Given the description of an element on the screen output the (x, y) to click on. 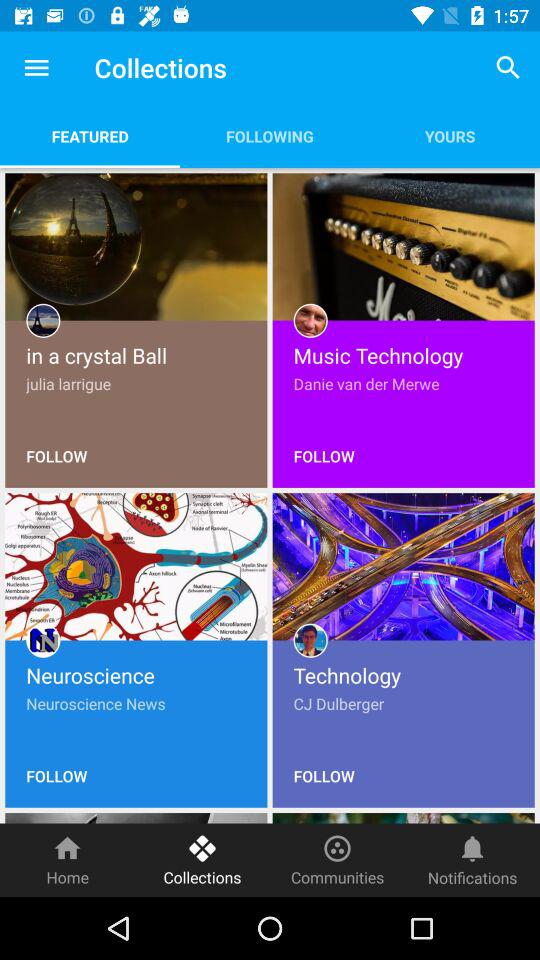
press the icon above yours app (508, 67)
